Given the description of an element on the screen output the (x, y) to click on. 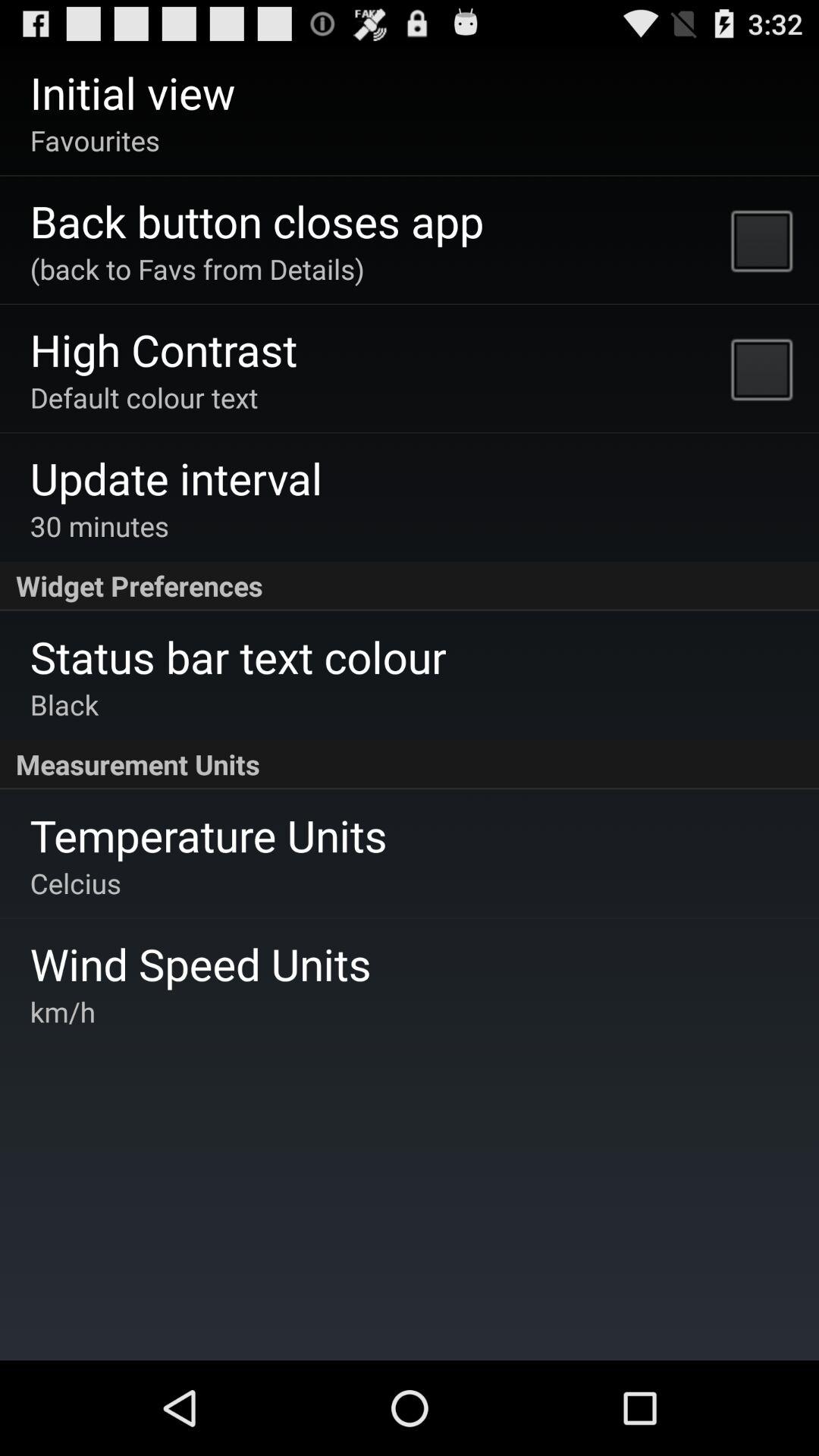
swipe until the temperature units (208, 834)
